Given the description of an element on the screen output the (x, y) to click on. 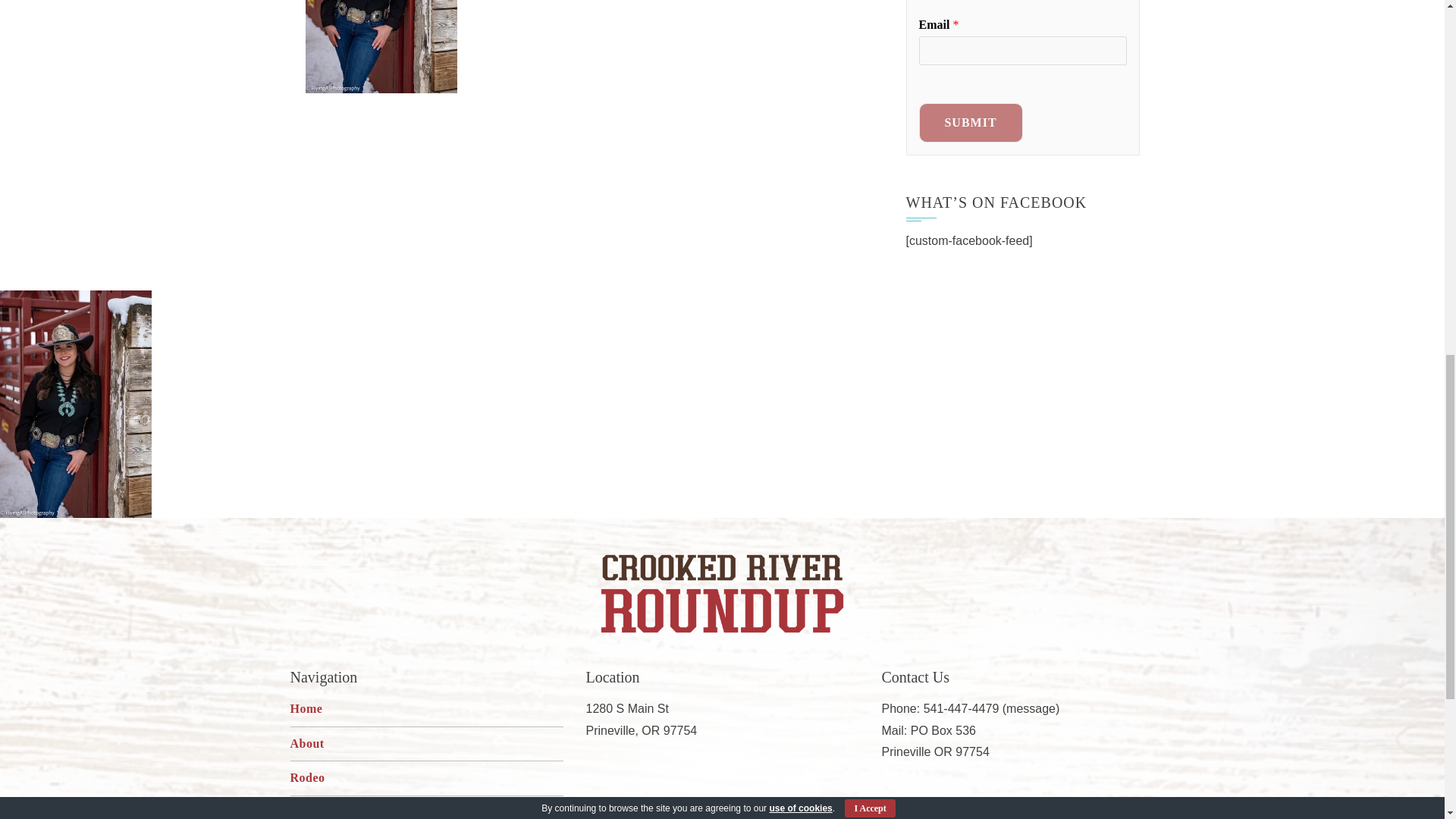
Crooked River Roundup Home (721, 593)
